Given the description of an element on the screen output the (x, y) to click on. 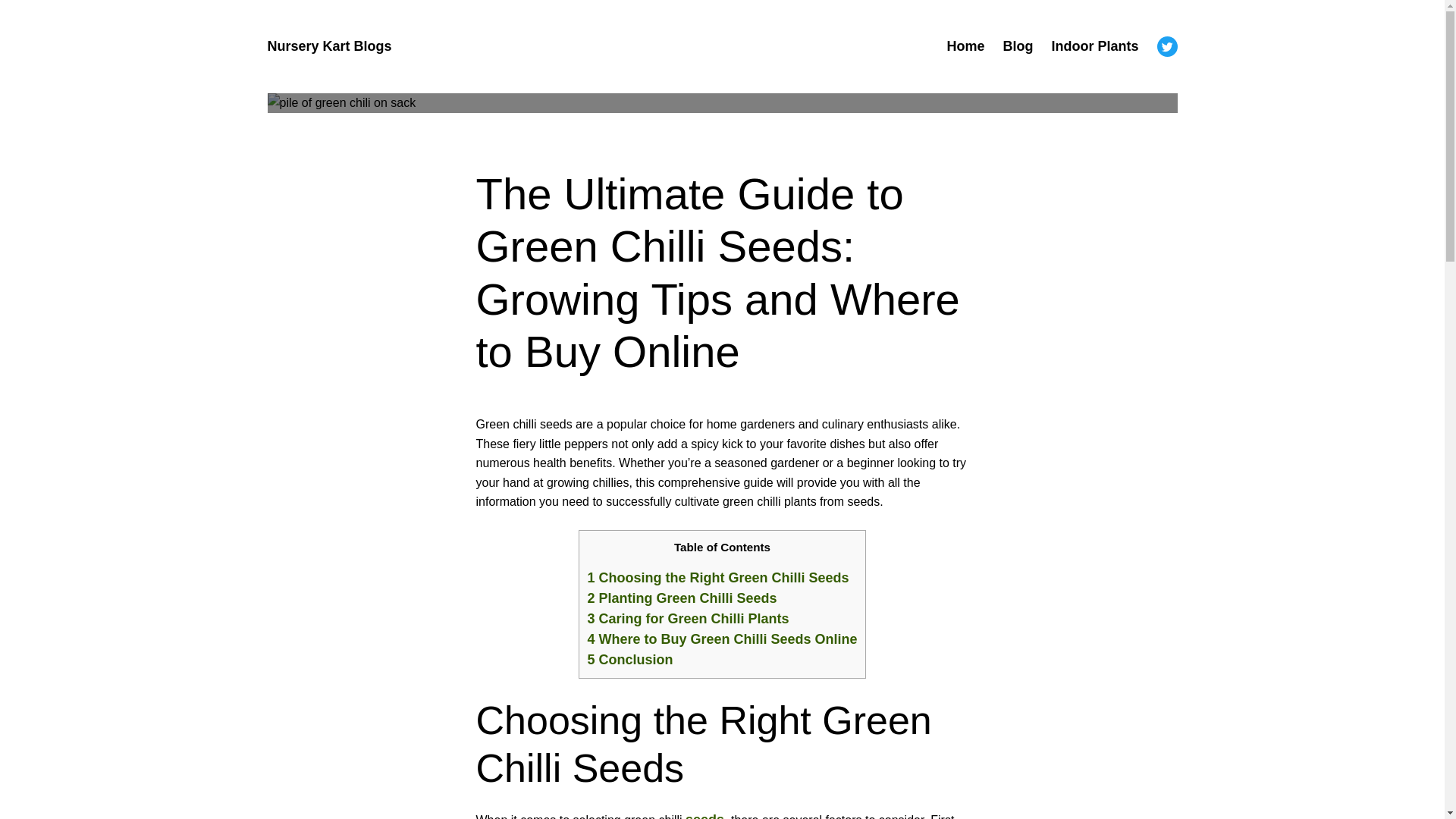
3 Caring for Green Chilli Plants (687, 618)
seeds (704, 815)
Twitter (1167, 46)
Home (965, 46)
2 Planting Green Chilli Seeds (681, 598)
1 Choosing the Right Green Chilli Seeds (717, 577)
Indoor Plants (1094, 46)
seeds (704, 815)
4 Where to Buy Green Chilli Seeds Online (721, 639)
5 Conclusion (629, 659)
Nursery Kart Blogs (328, 46)
Blog (1017, 46)
